Given the description of an element on the screen output the (x, y) to click on. 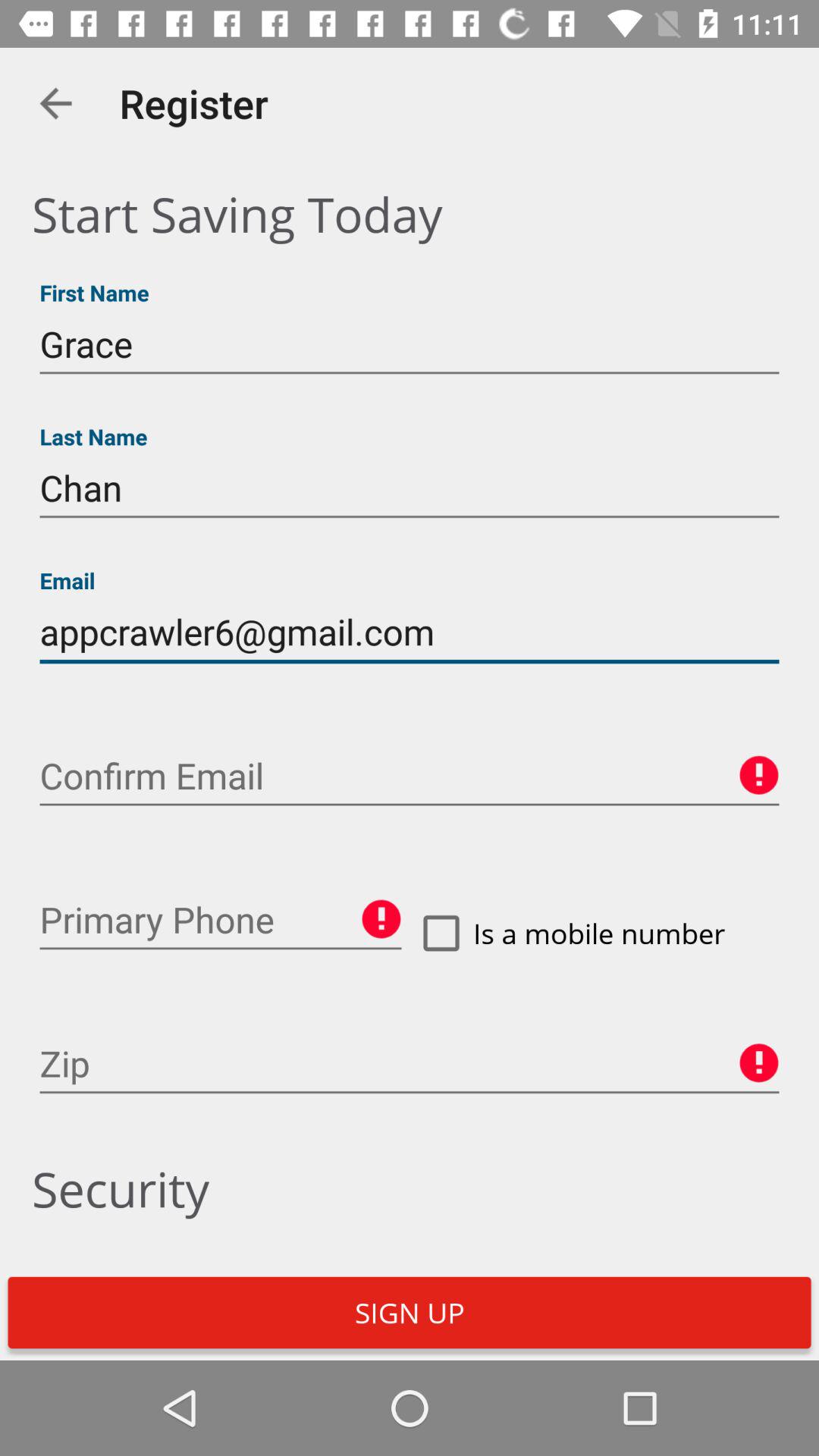
insert zip code (409, 1064)
